Given the description of an element on the screen output the (x, y) to click on. 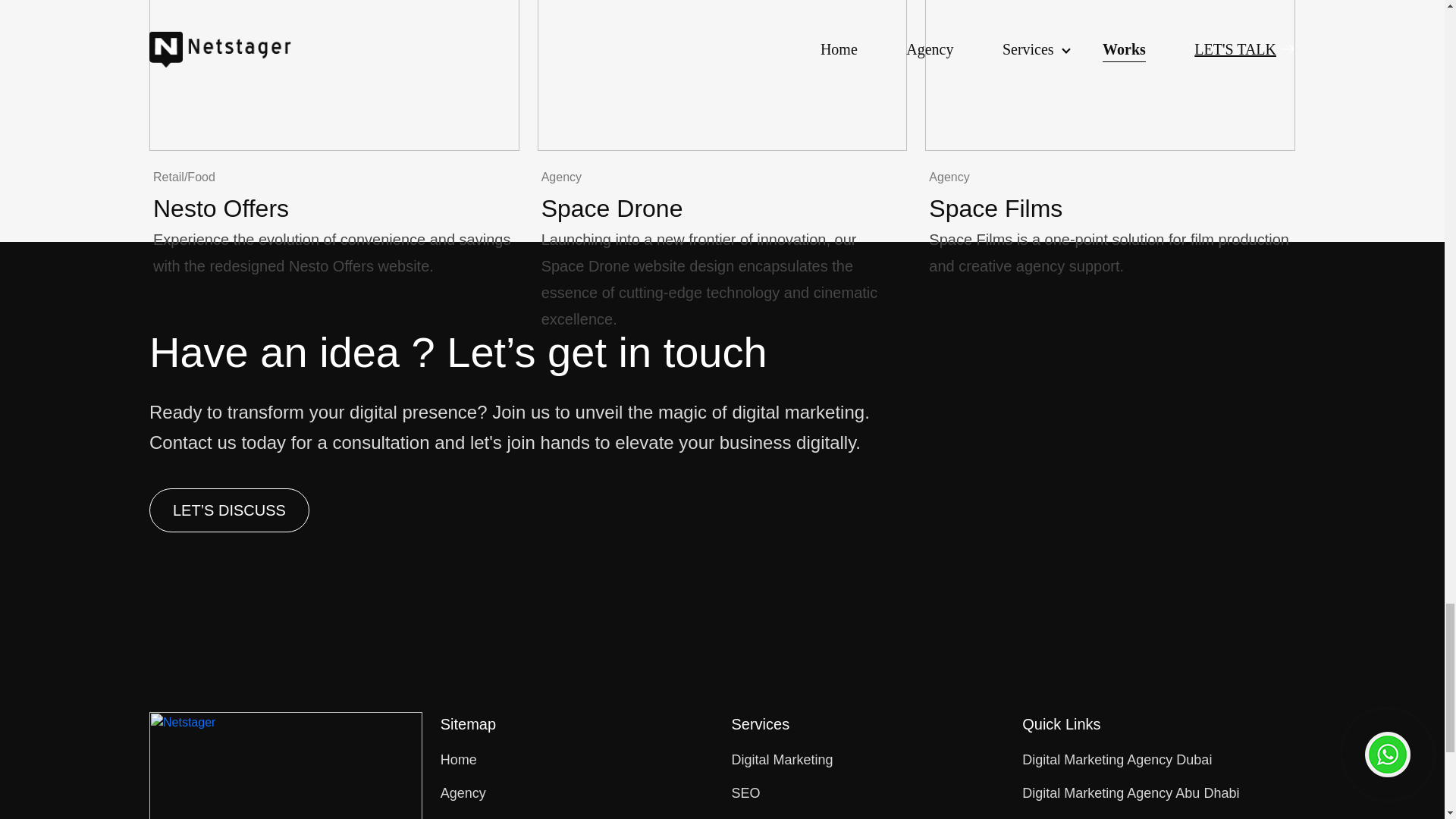
Home (459, 759)
Agency (463, 792)
